Given the description of an element on the screen output the (x, y) to click on. 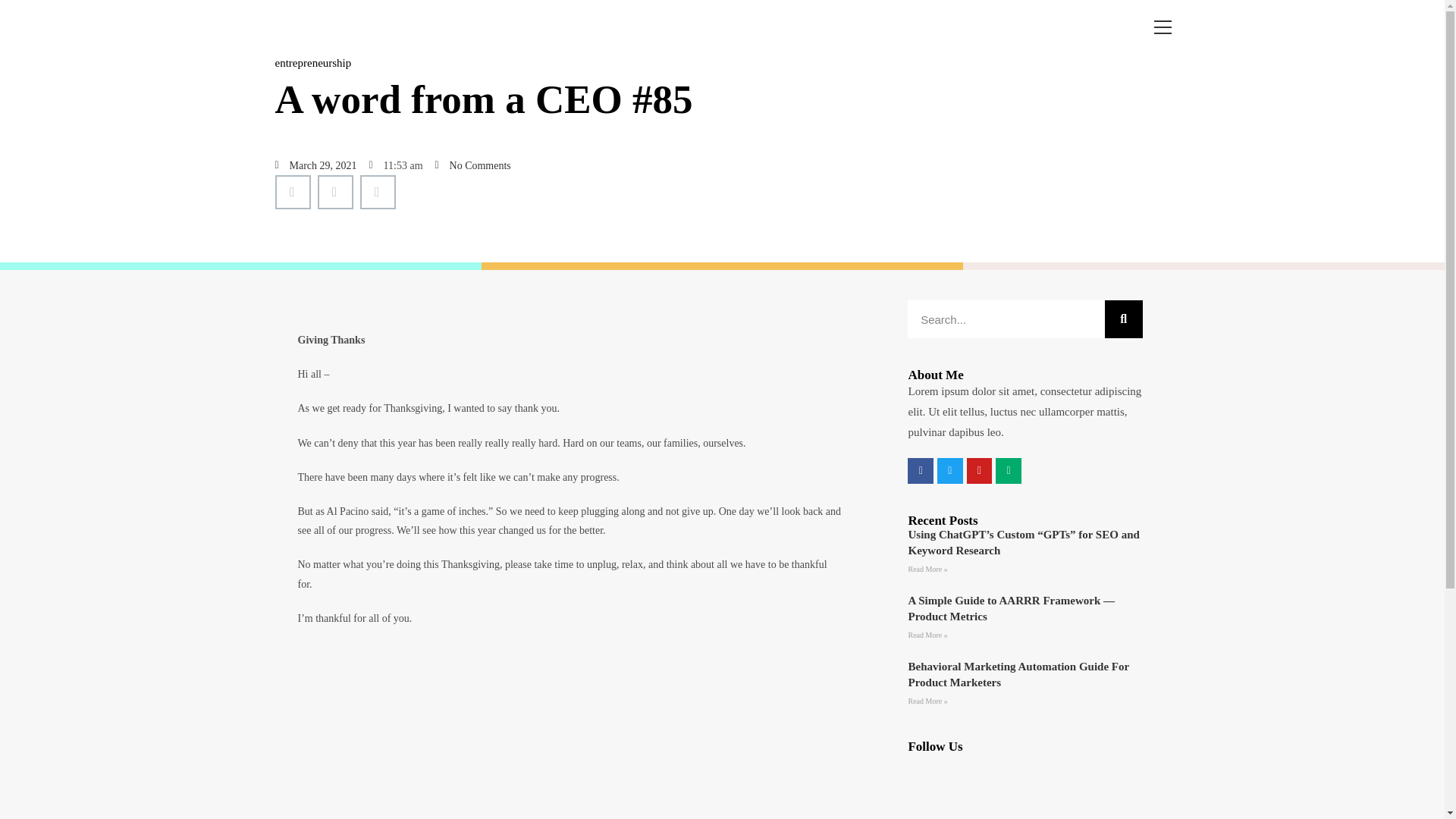
No Comments (473, 165)
Behavioral Marketing Automation Guide For Product Marketers (1017, 674)
entrepreneurship (312, 62)
March 29, 2021 (315, 165)
